Given the description of an element on the screen output the (x, y) to click on. 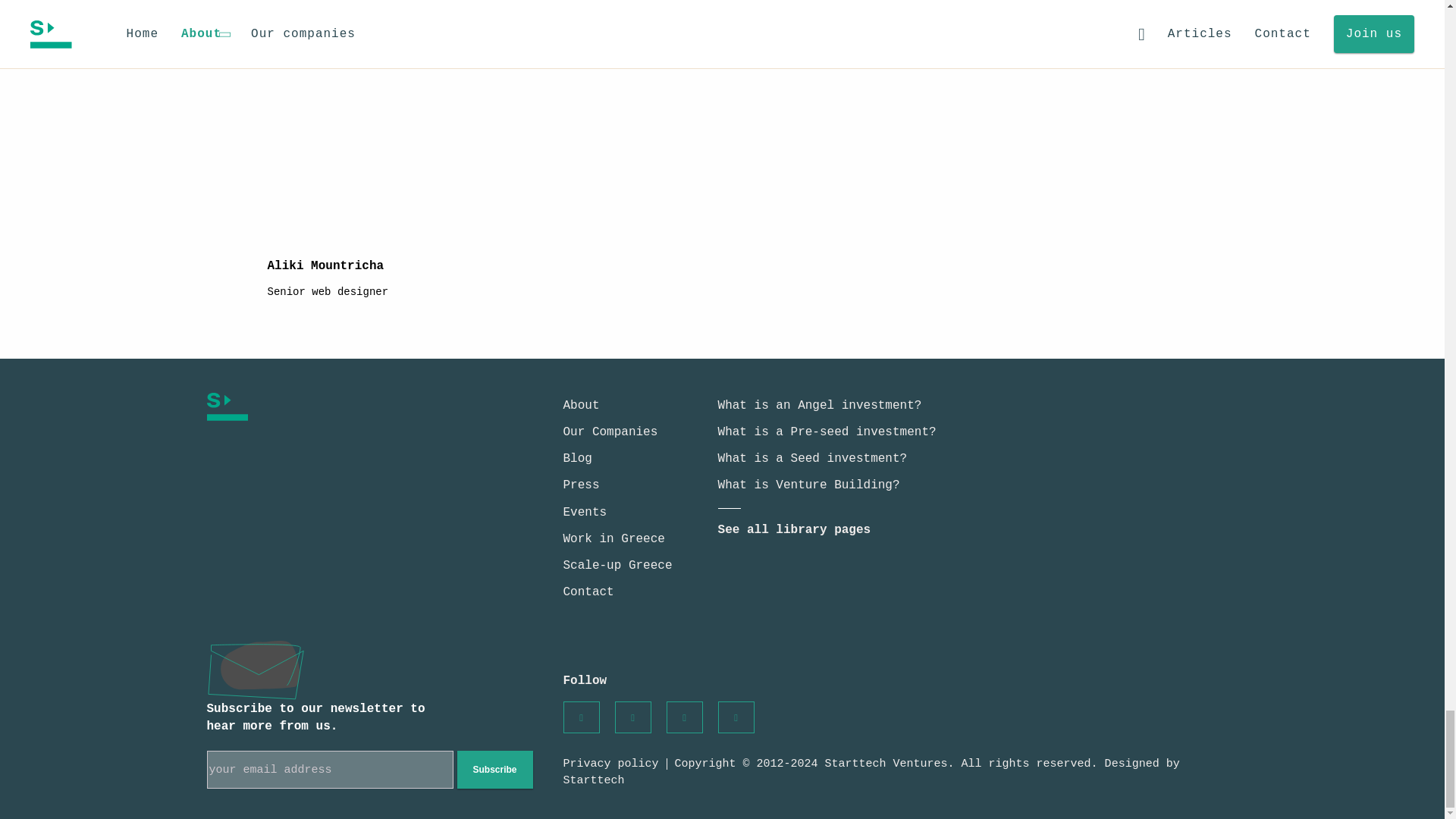
Events (584, 512)
Work in Greece (612, 539)
Scale-up Greece (616, 565)
What is a Pre-seed investment? (826, 431)
See all library pages (793, 530)
Starttech Ventures (341, 407)
About (580, 405)
What is Venture Building? (808, 485)
Subscribe (494, 769)
Press (580, 485)
